Given the description of an element on the screen output the (x, y) to click on. 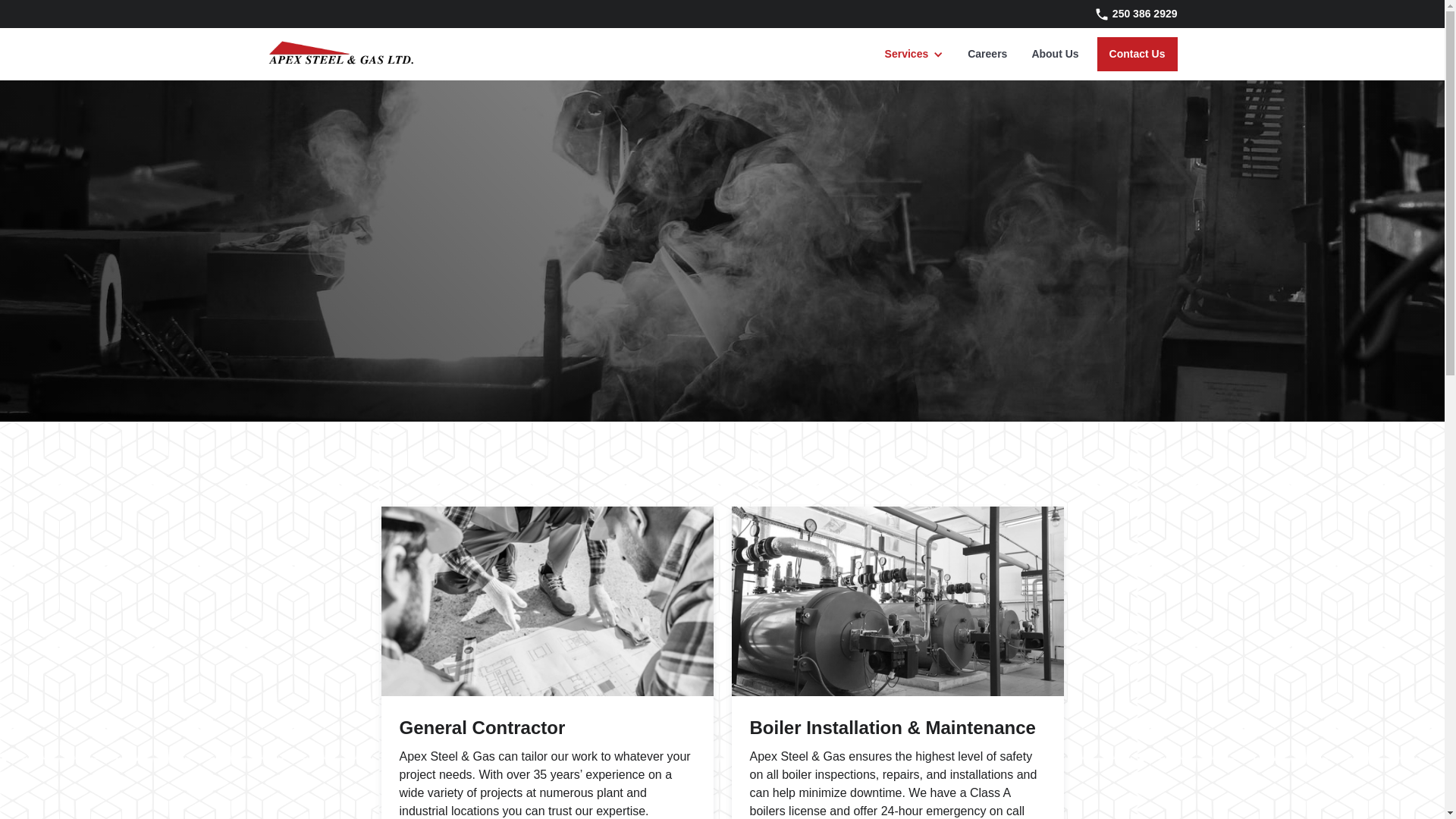
Careers Element type: text (987, 54)
Services Element type: text (906, 54)
phone
250 386 2929 Element type: text (1126, 14)
Contact Us Element type: text (1137, 54)
About Us Element type: text (1054, 54)
